Given the description of an element on the screen output the (x, y) to click on. 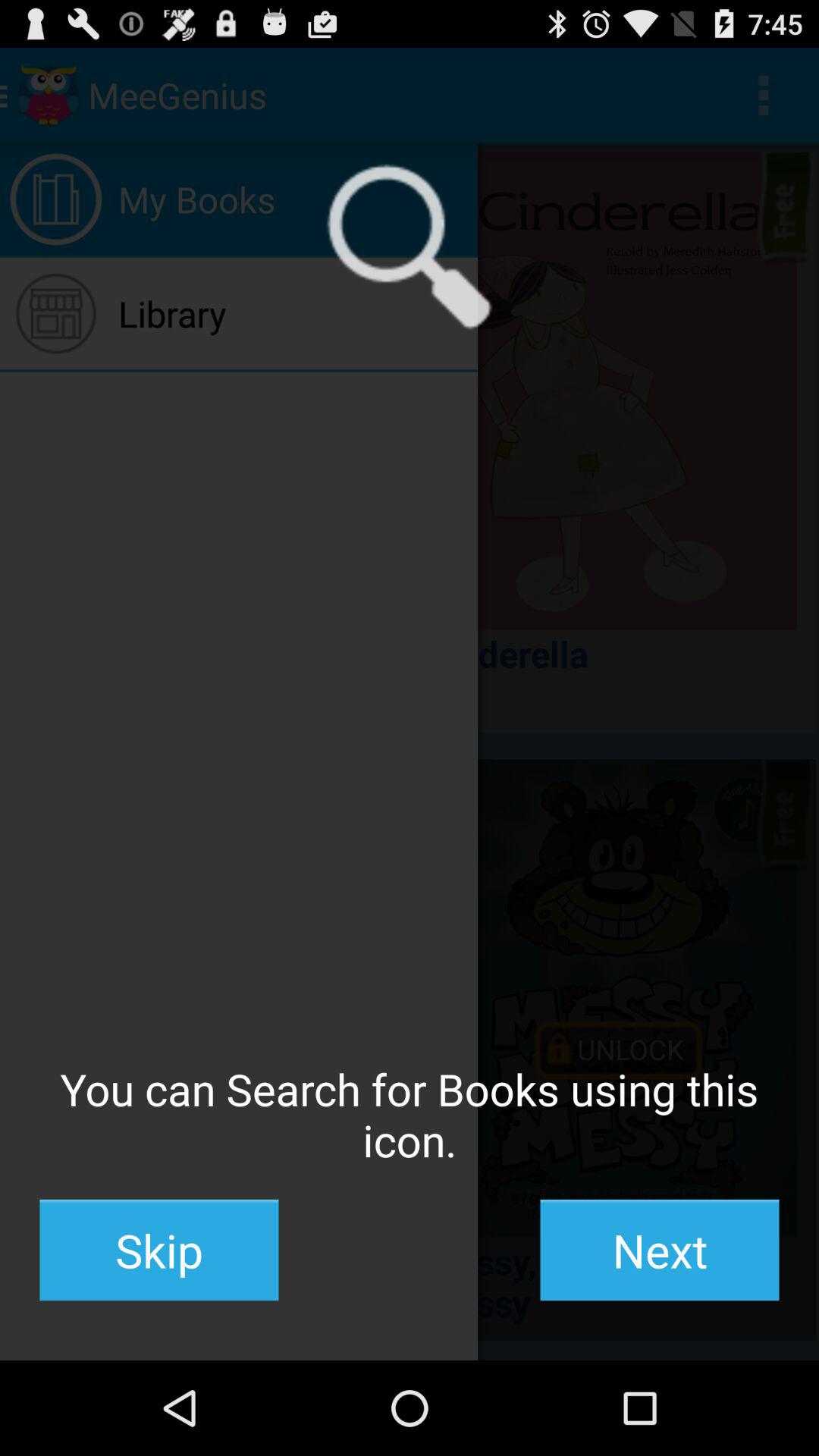
turn on button to the right of skip button (659, 1249)
